Given the description of an element on the screen output the (x, y) to click on. 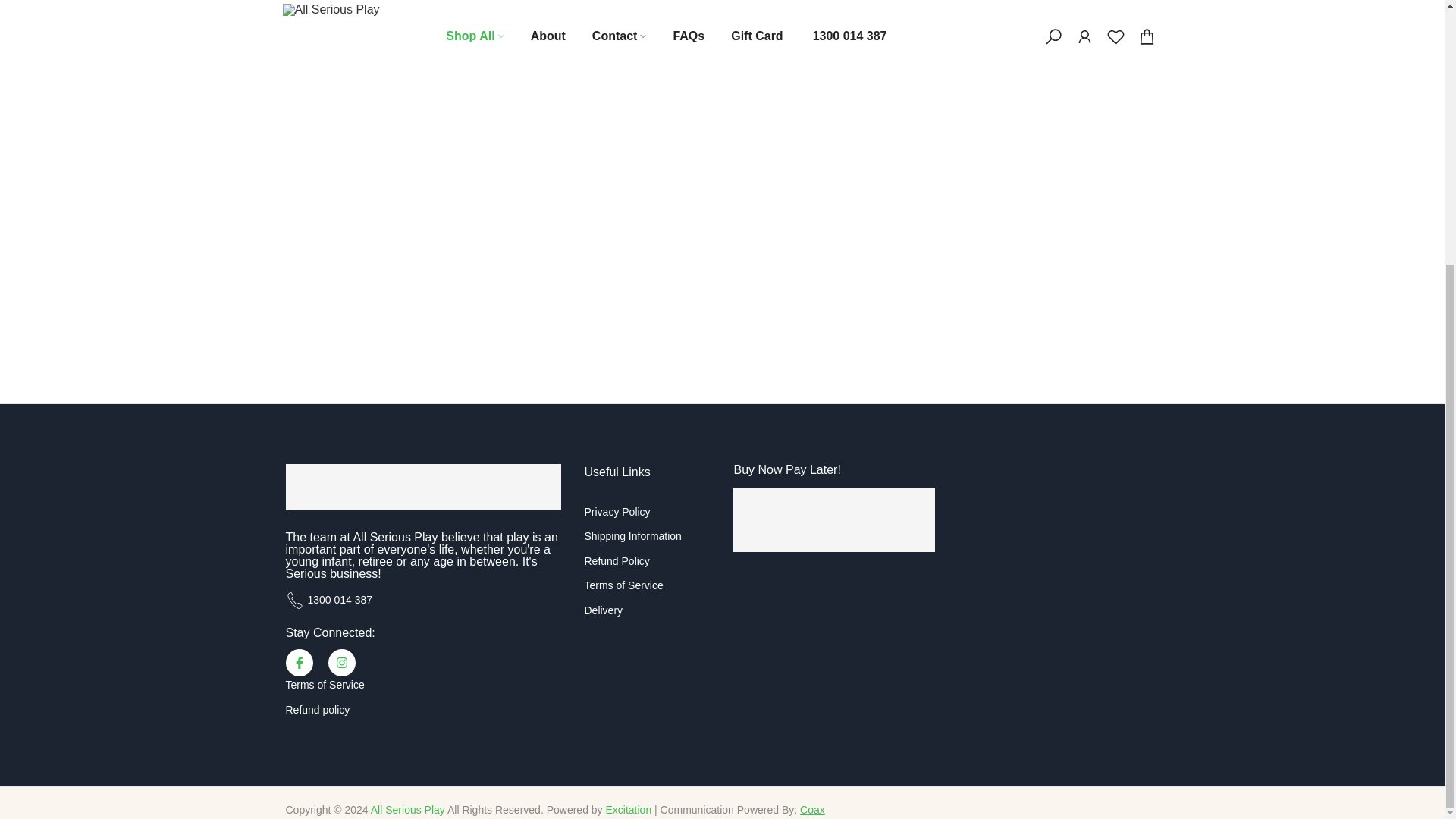
Shipping Information (632, 535)
Refund policy (317, 709)
Privacy Policy (616, 511)
Terms of Service (324, 684)
Follow on Facebook (299, 662)
Refund Policy (616, 561)
1300 014 387 (339, 599)
Excitation (627, 809)
Delivery (603, 610)
Terms of Service (622, 585)
